Given the description of an element on the screen output the (x, y) to click on. 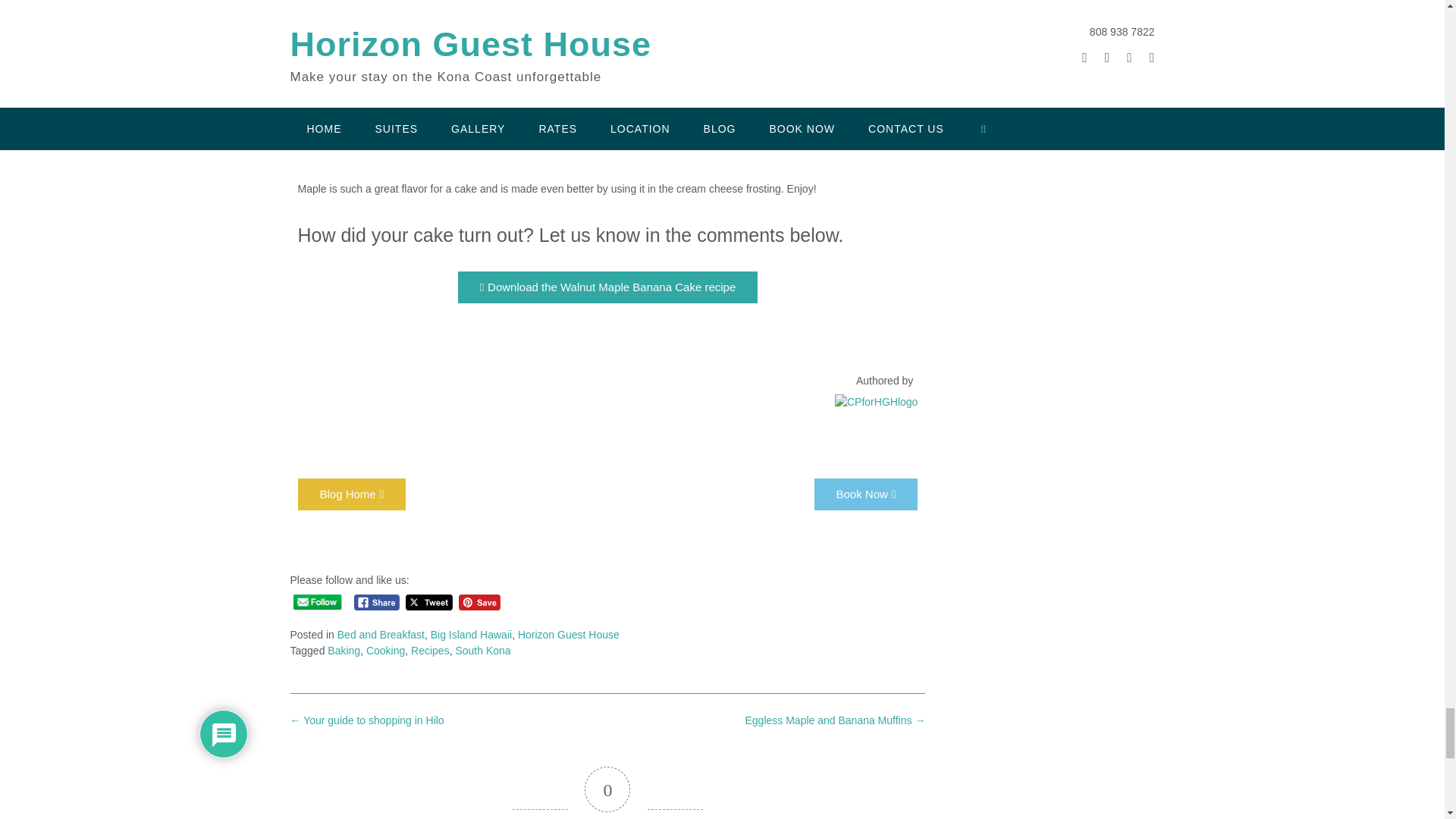
Pin Share (479, 602)
Download the Walnut Maple Banana Cake recipe (608, 287)
Tweet (429, 602)
CPforHGHlogo (875, 401)
Blog Home (351, 494)
Facebook Share (376, 602)
